Given the description of an element on the screen output the (x, y) to click on. 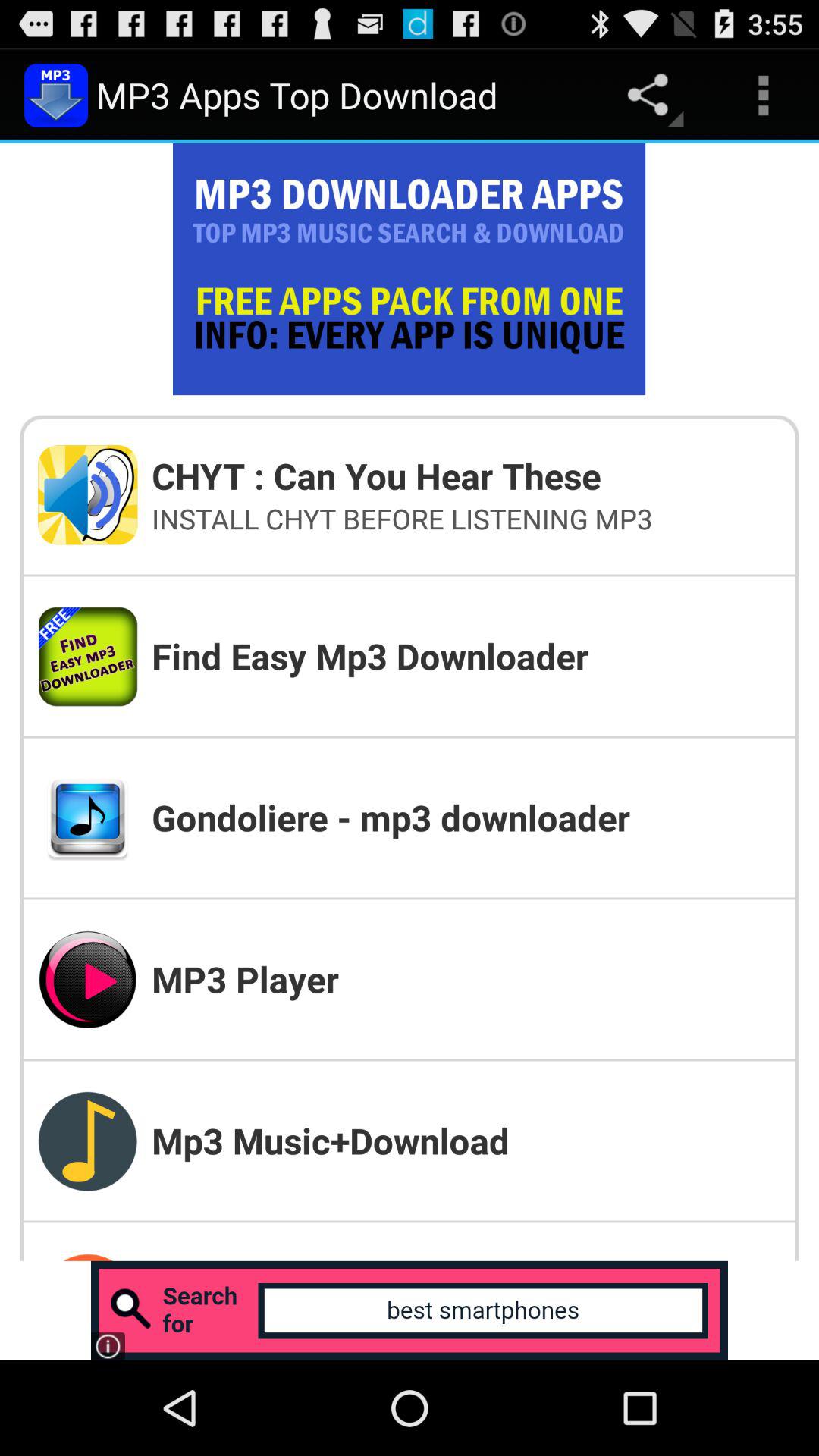
select item above gondoliere - mp3 downloader item (465, 655)
